Given the description of an element on the screen output the (x, y) to click on. 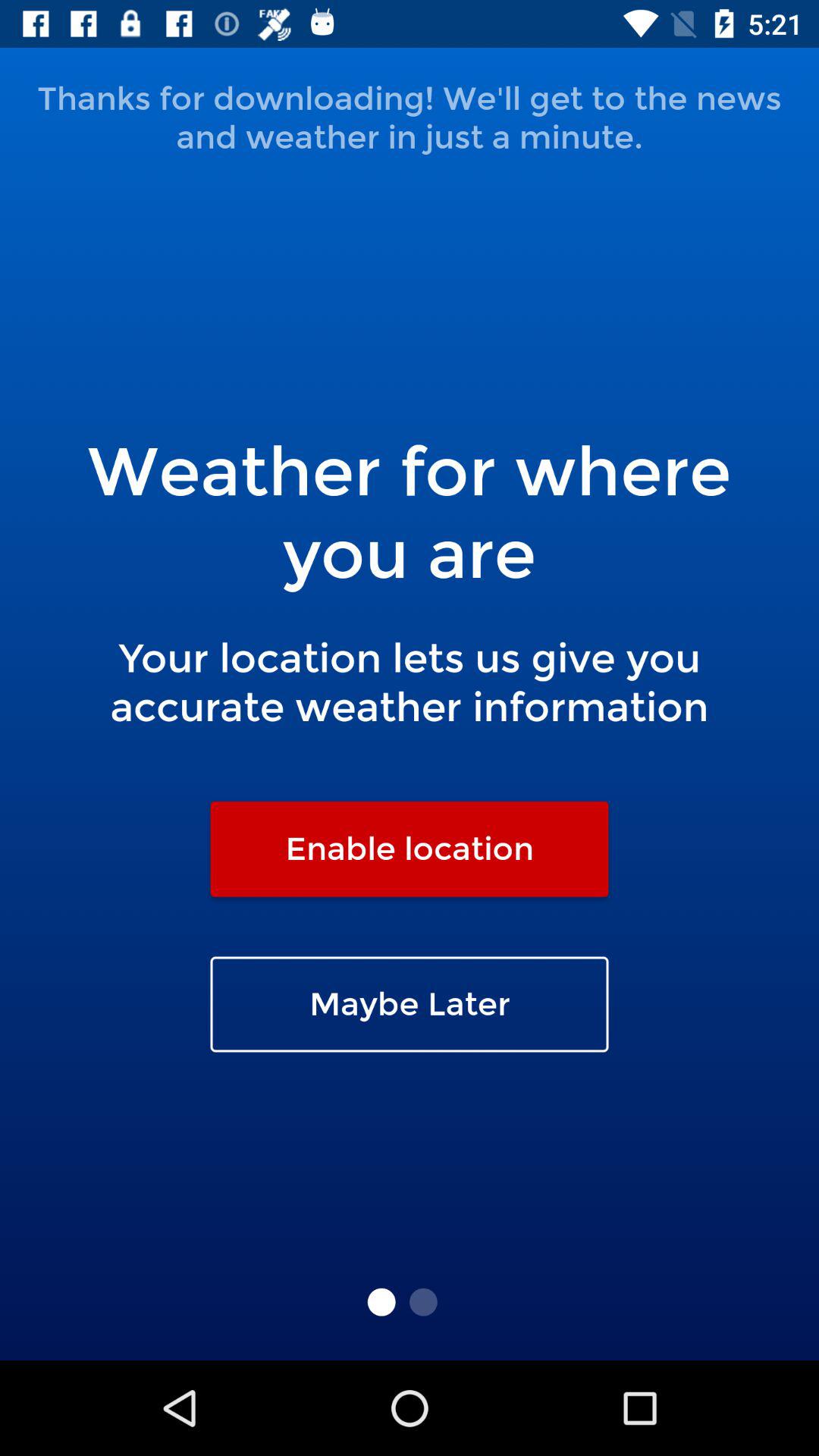
choose icon above the maybe later item (409, 848)
